Given the description of an element on the screen output the (x, y) to click on. 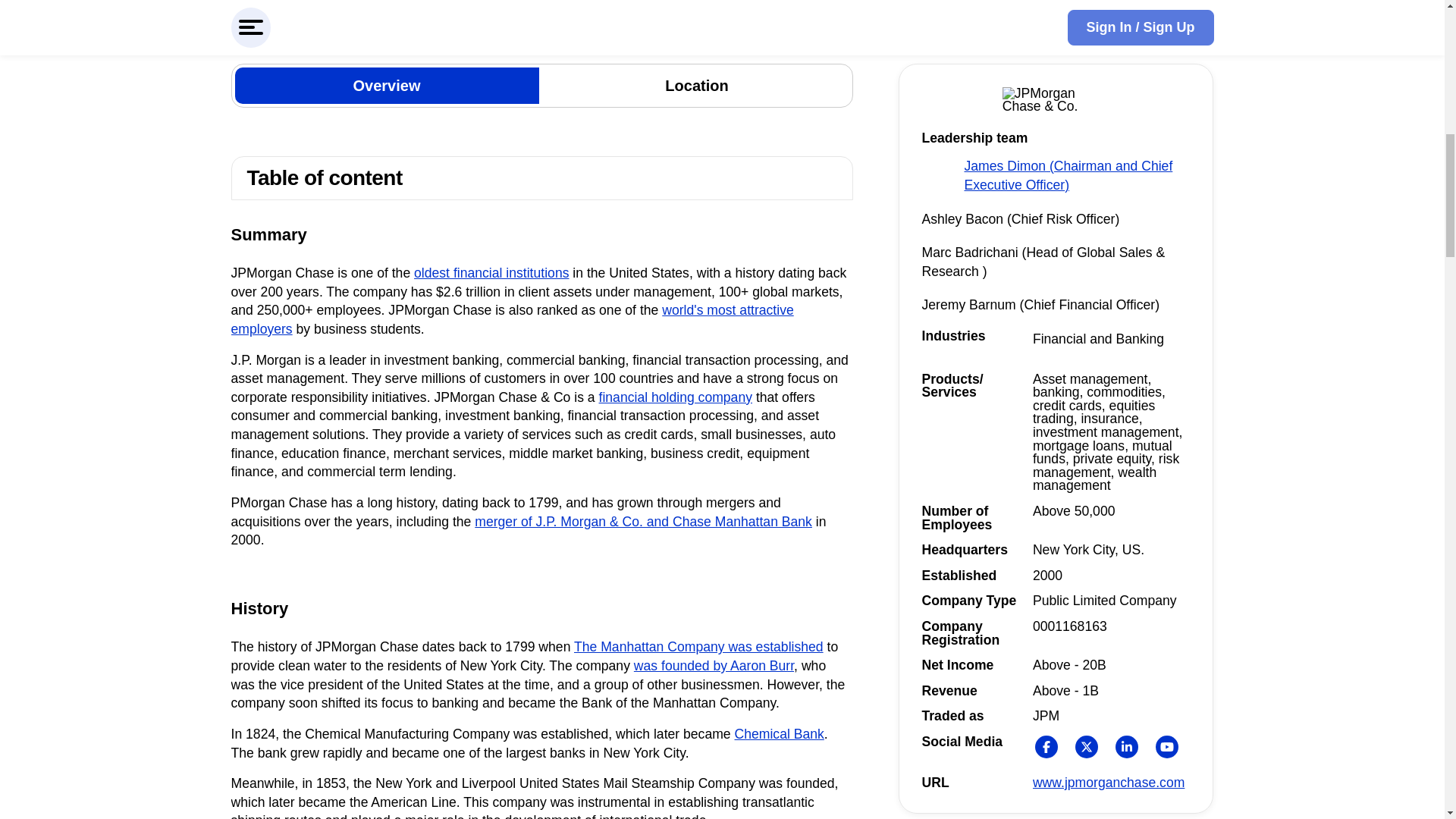
Table of content (541, 178)
world's most attractive employers (511, 319)
was founded by Aaron Burr (713, 665)
financial holding company (675, 396)
oldest financial institutions (491, 272)
Chemical Bank (779, 734)
The Manhattan Company was established (698, 646)
